Given the description of an element on the screen output the (x, y) to click on. 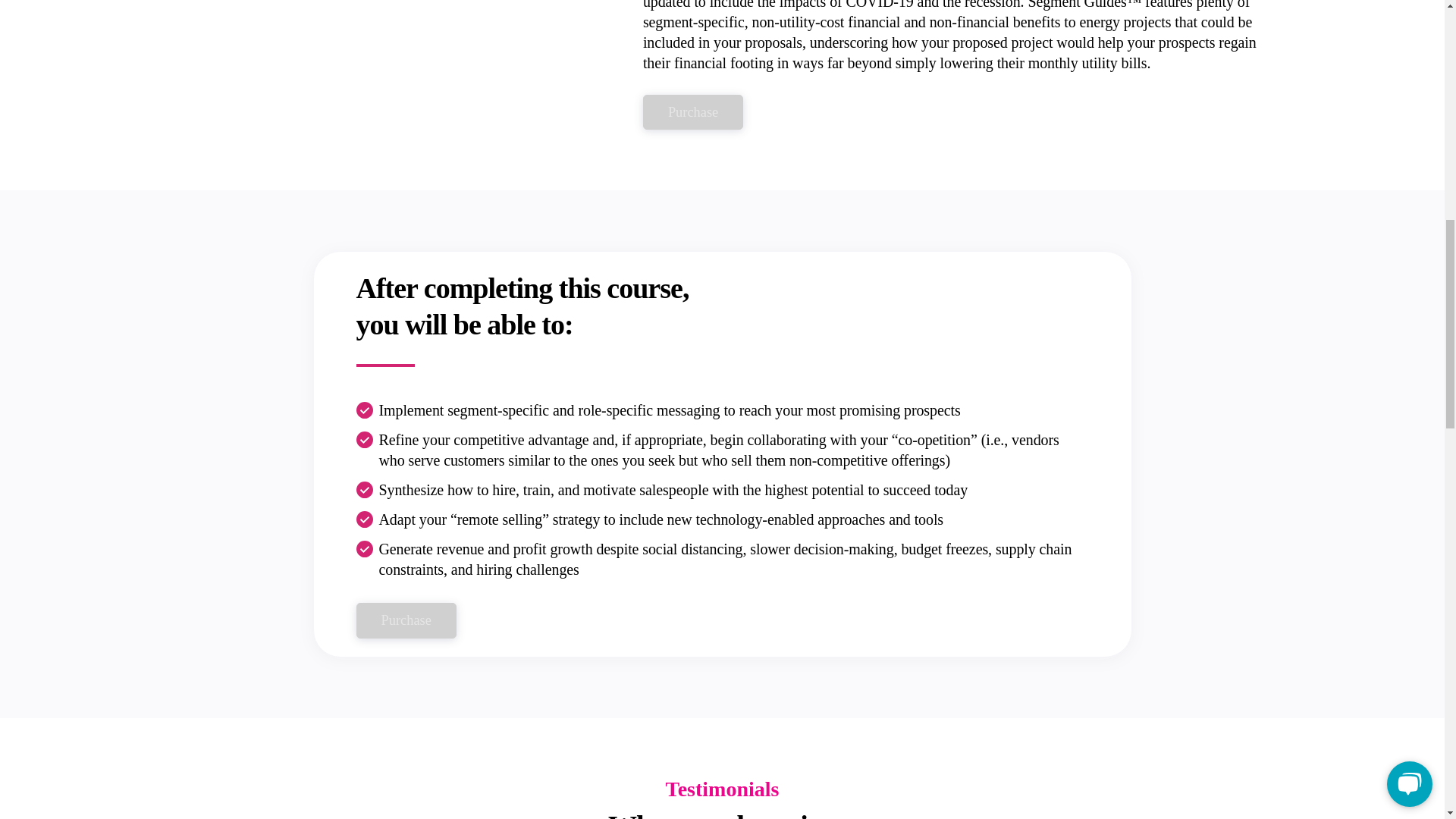
Purchase (692, 112)
Purchase (406, 620)
